Given the description of an element on the screen output the (x, y) to click on. 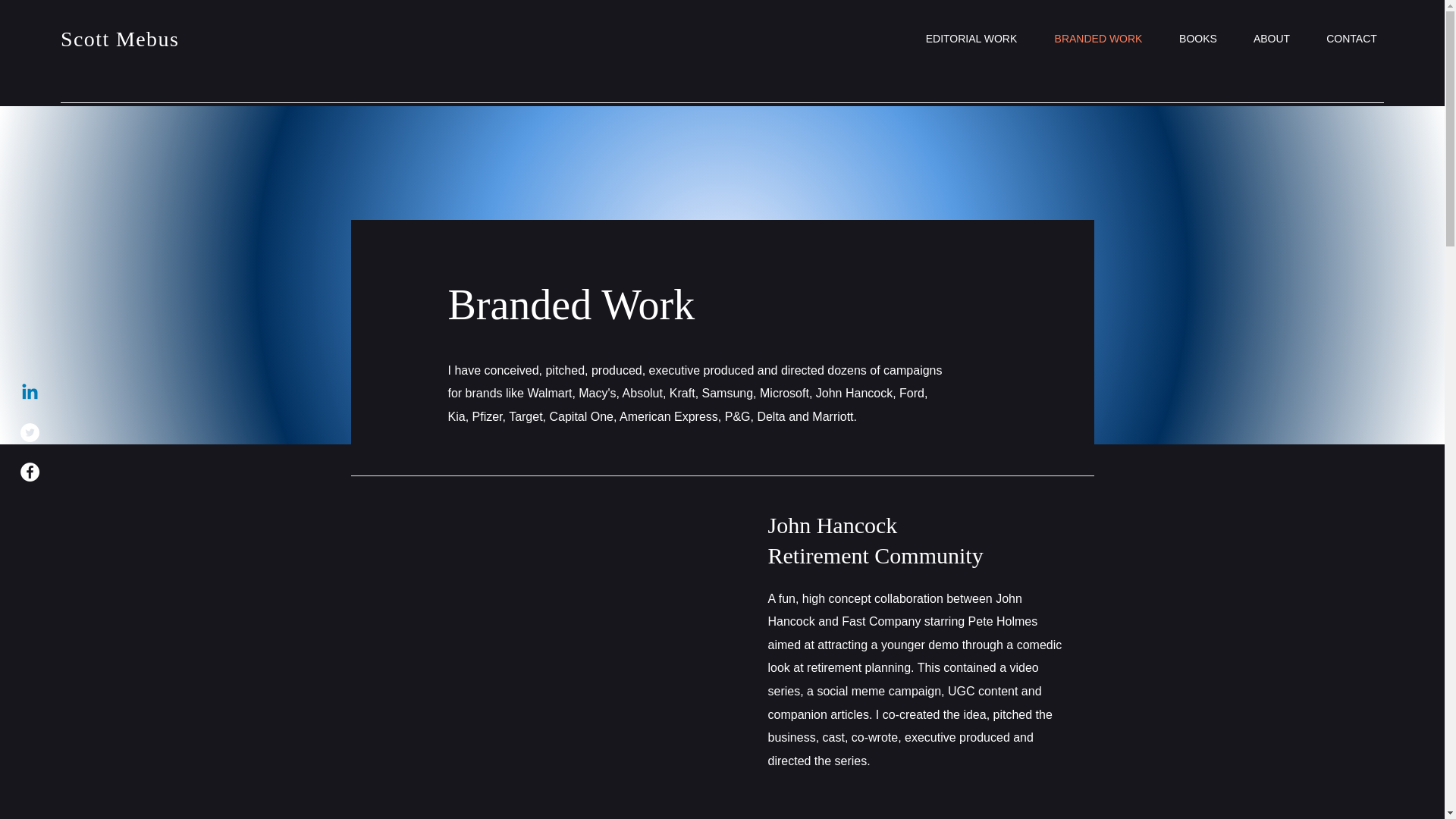
Scott Mebus (120, 38)
BRANDED WORK (1097, 38)
BOOKS (1197, 38)
CONTACT (1350, 38)
ABOUT (1270, 38)
EDITORIAL WORK (971, 38)
